Given the description of an element on the screen output the (x, y) to click on. 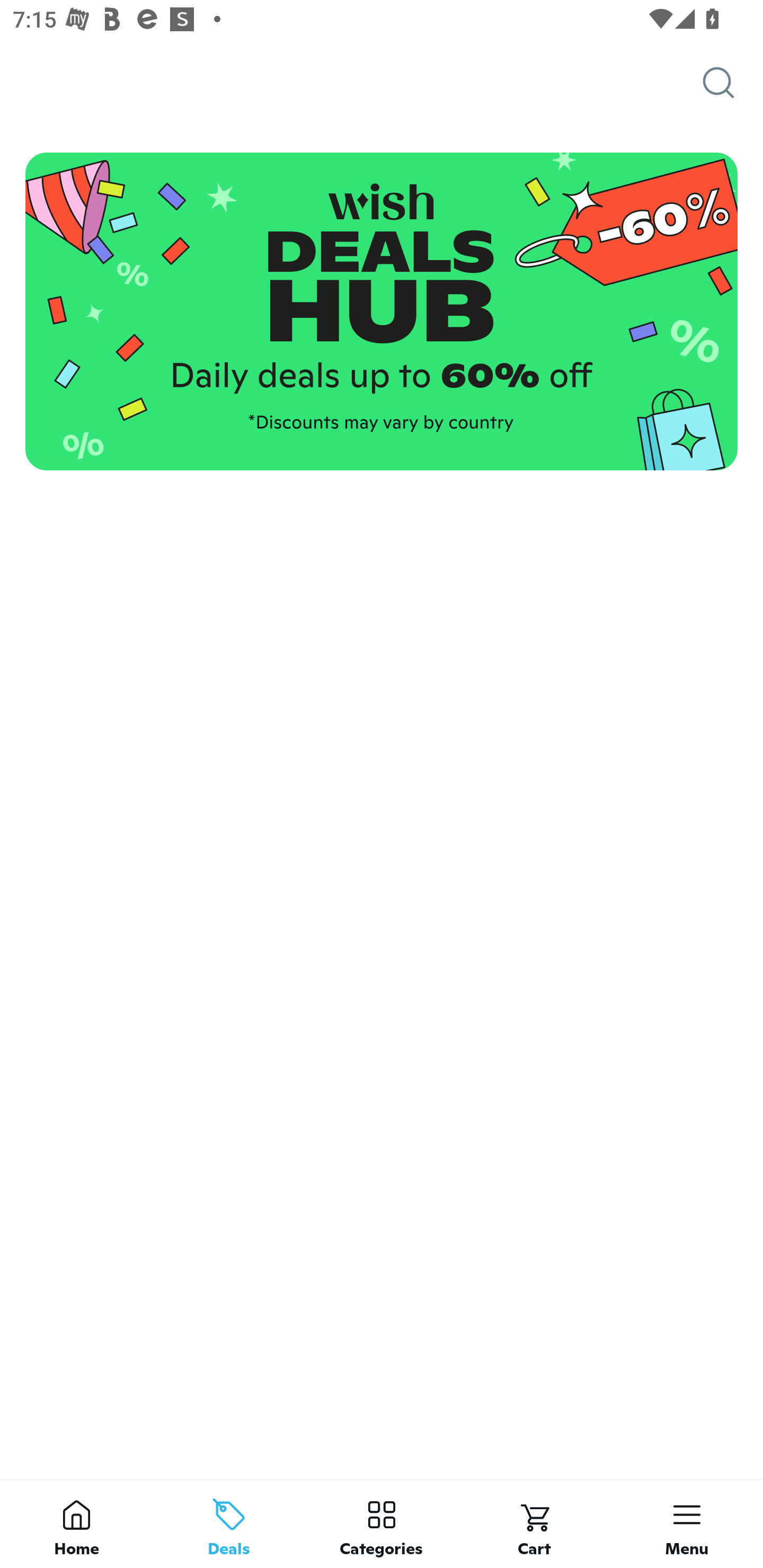
Search (732, 82)
Home (76, 1523)
Deals (228, 1523)
Categories (381, 1523)
Cart (533, 1523)
Menu (686, 1523)
